Given the description of an element on the screen output the (x, y) to click on. 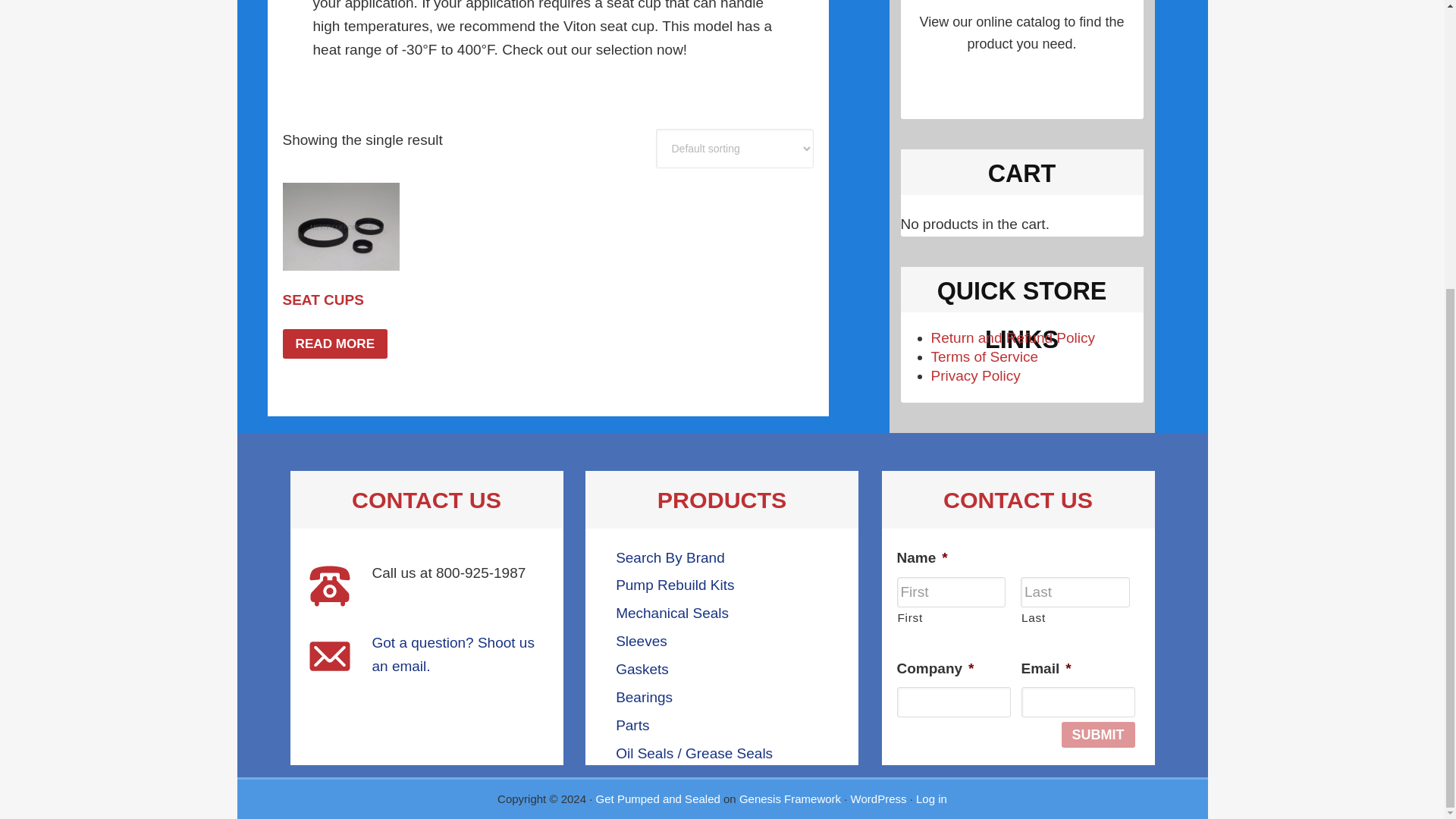
Terms of Service (984, 356)
Return and Refund Policy (1013, 337)
READ MORE (334, 343)
Pump Rebuild Kits (674, 584)
Mechanical Seals (671, 612)
Search By Brand (670, 557)
Submit (1098, 734)
Got a question? Shoot us an email. (452, 654)
Privacy Policy (975, 375)
